Given the description of an element on the screen output the (x, y) to click on. 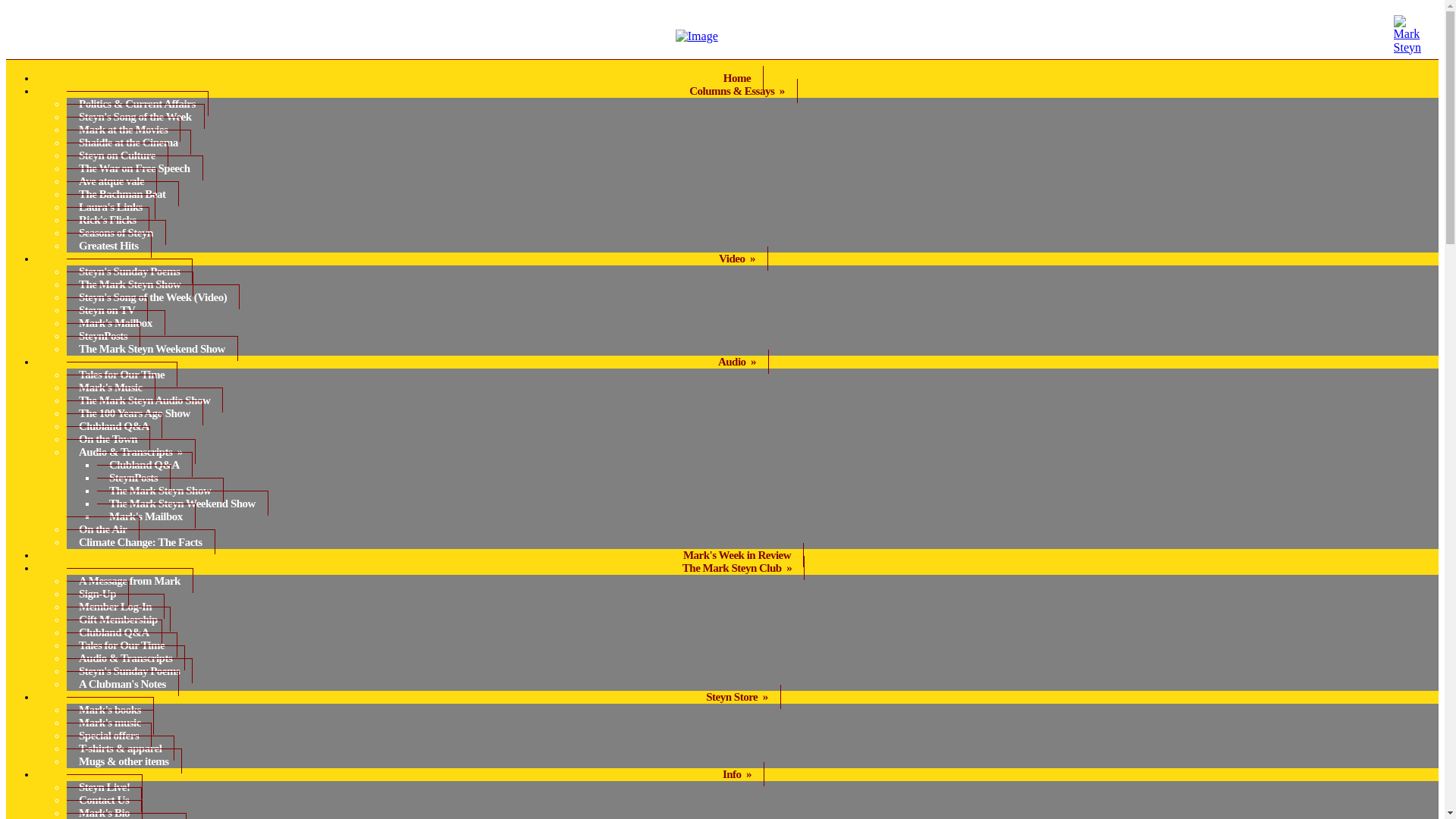
On the Air (102, 528)
The Mark Steyn Weekend Show (152, 348)
Ave atque vale (111, 180)
On the Town (107, 438)
Steyn's Sunday Poems (129, 270)
Mark's Week in Review (737, 554)
Climate Change: The Facts (140, 541)
Steyn's Song of the Week (135, 116)
Rick's Flicks (107, 219)
The Mark Steyn Weekend Show (182, 502)
SteynPosts (102, 335)
The Mark Steyn Audio Show (144, 399)
Mark's Mailbox (146, 515)
Steyn on Culture (117, 154)
The 100 Years Ago Show (134, 412)
